Given the description of an element on the screen output the (x, y) to click on. 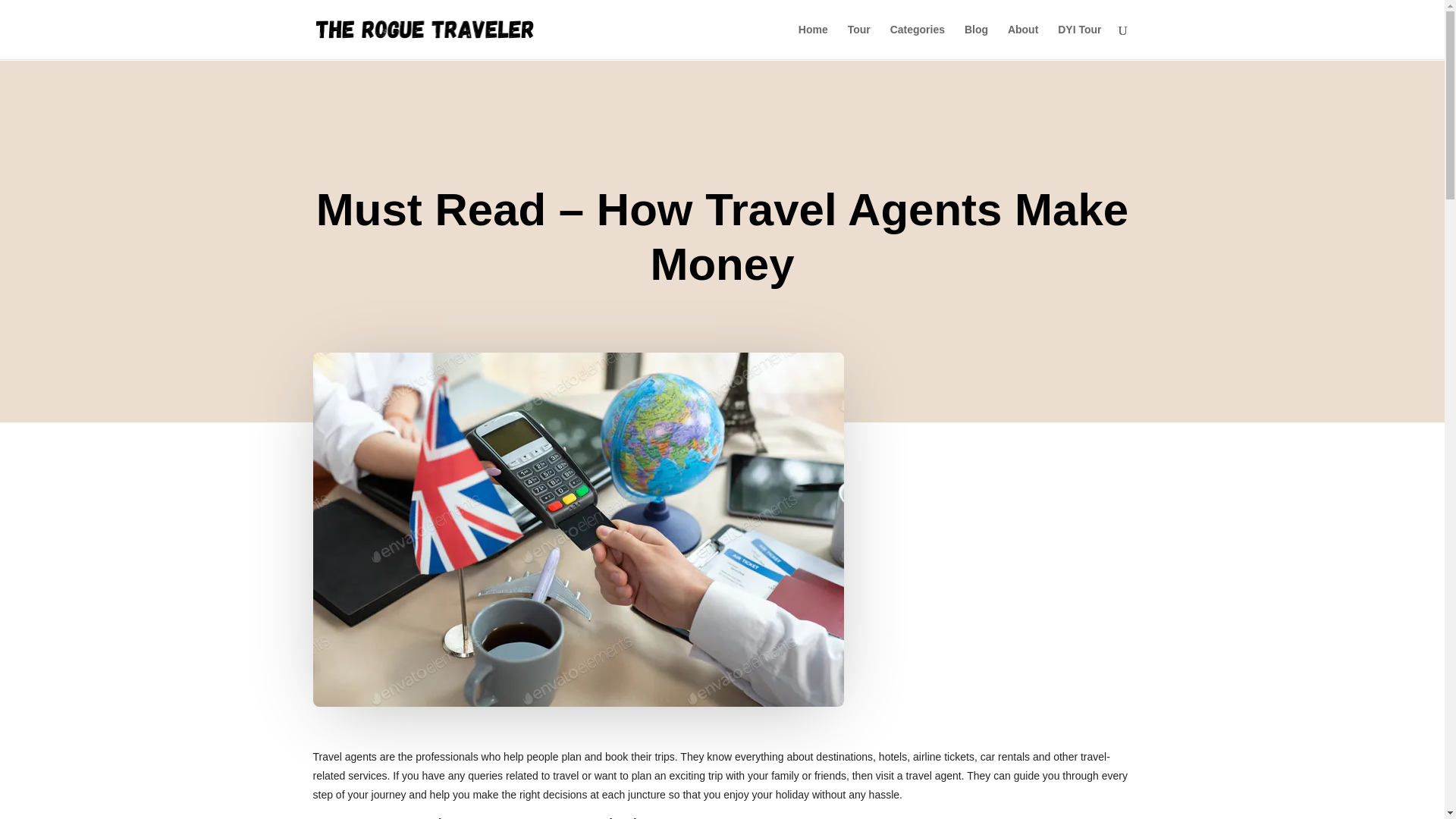
Categories (916, 41)
DYI Tour (1079, 41)
